Given the description of an element on the screen output the (x, y) to click on. 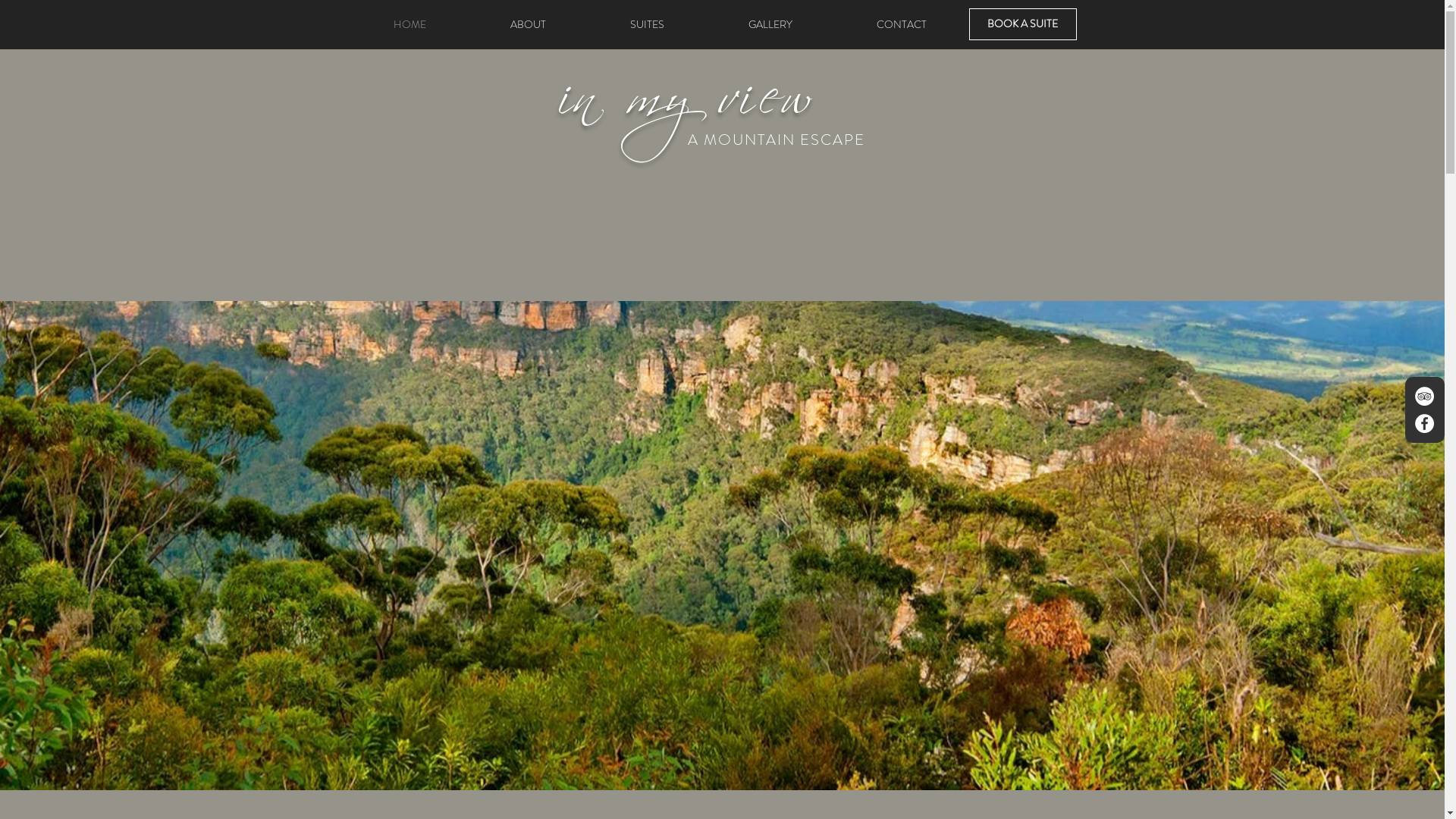
CONTACT Element type: text (901, 24)
HOME Element type: text (408, 24)
SUITES Element type: text (647, 24)
BOOK A SUITE Element type: text (1022, 24)
ABOUT Element type: text (528, 24)
GALLERY Element type: text (770, 24)
